Given the description of an element on the screen output the (x, y) to click on. 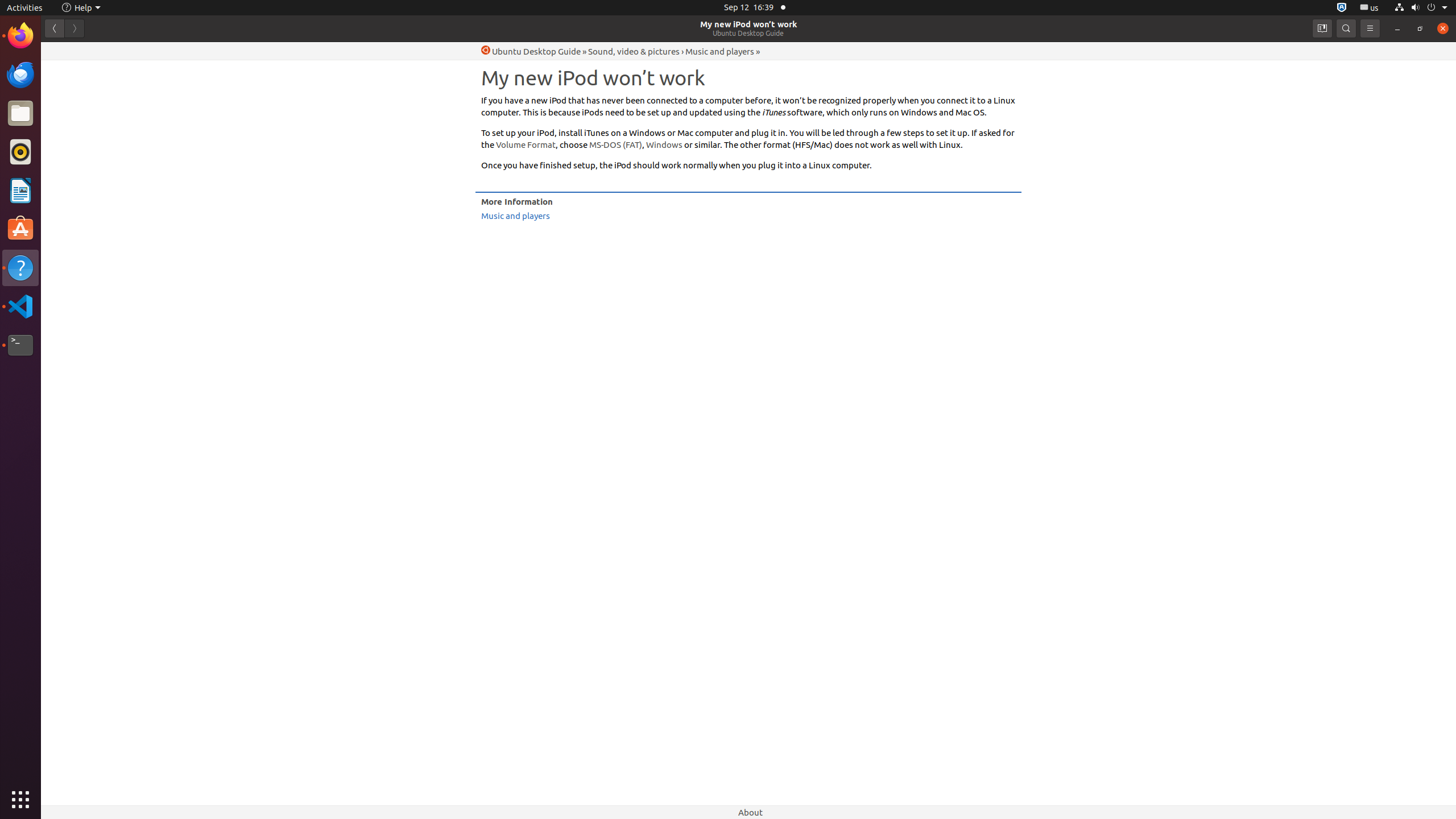
IsaHelpMain.desktop Element type: label (75, 170)
Terminal Element type: push-button (20, 344)
Music and players Element type: link (719, 51)
